Given the description of an element on the screen output the (x, y) to click on. 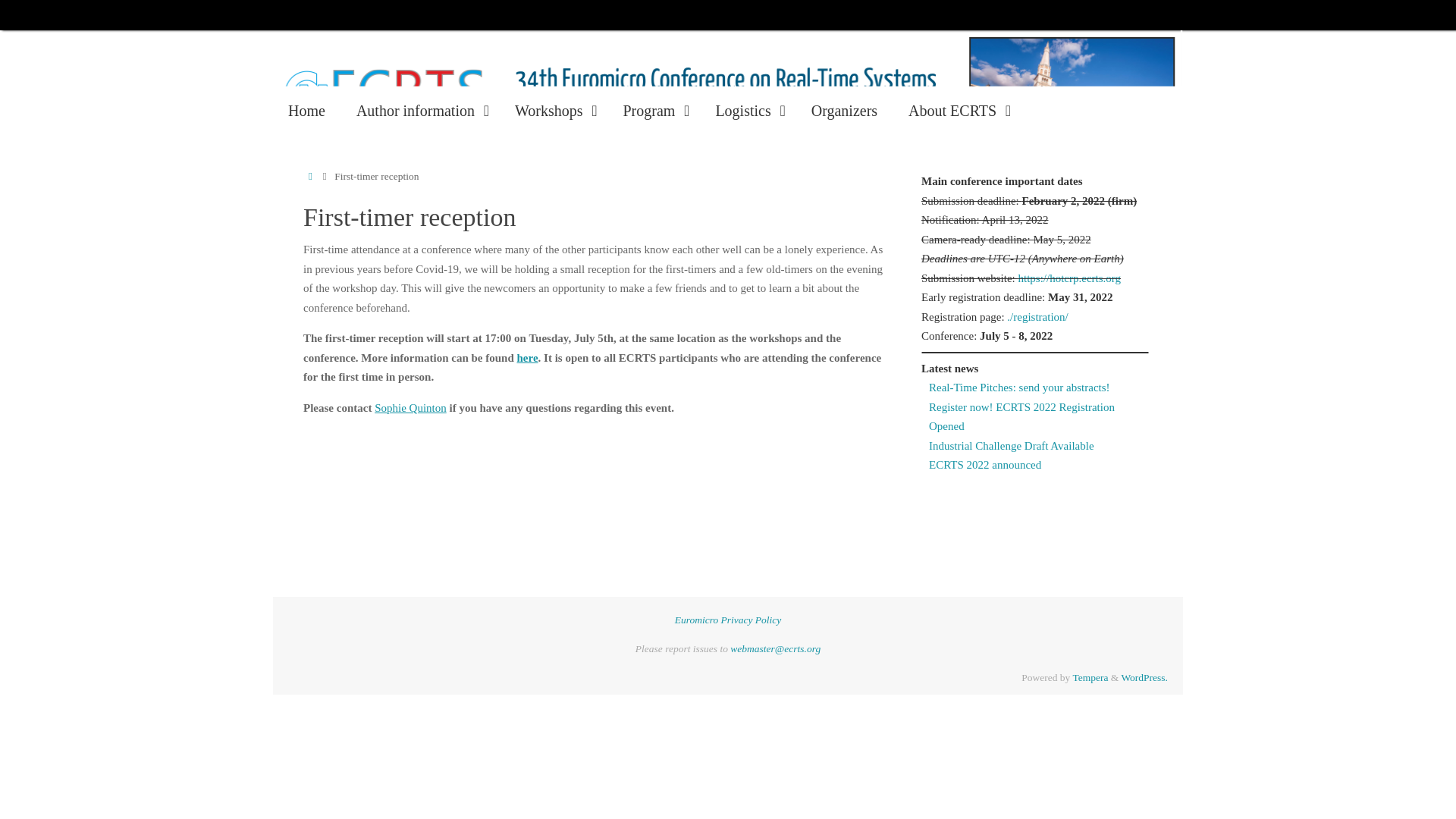
ECRTS 2022 - 34th Euromicro Conference on Real-Time Systems (727, 97)
Register now! ECRTS 2022 Registration Opened (1021, 416)
Semantic Personal Publishing Platform (1144, 677)
ECRTS 2022 announced (984, 464)
About ECRTS (957, 110)
Home (306, 110)
Program (654, 110)
Home (309, 175)
Logistics (747, 110)
Industrial Challenge Draft Available (1011, 445)
